Given the description of an element on the screen output the (x, y) to click on. 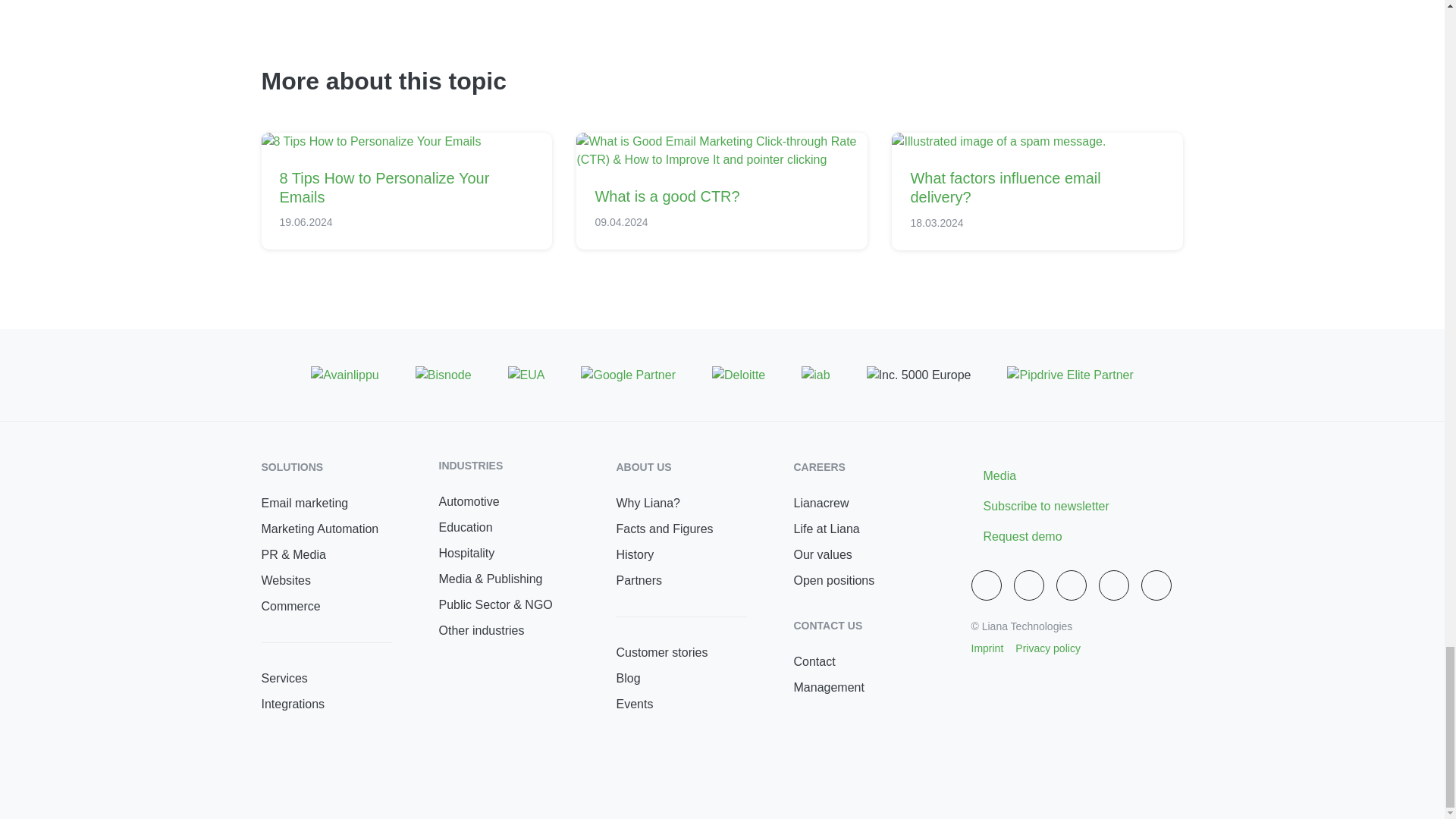
Bisnode (442, 374)
iab (815, 374)
EUA (526, 374)
Pipedrive Elite Partner (1069, 374)
Avainlippu (344, 374)
Google Partner (627, 374)
Deloitte (738, 374)
